Given the description of an element on the screen output the (x, y) to click on. 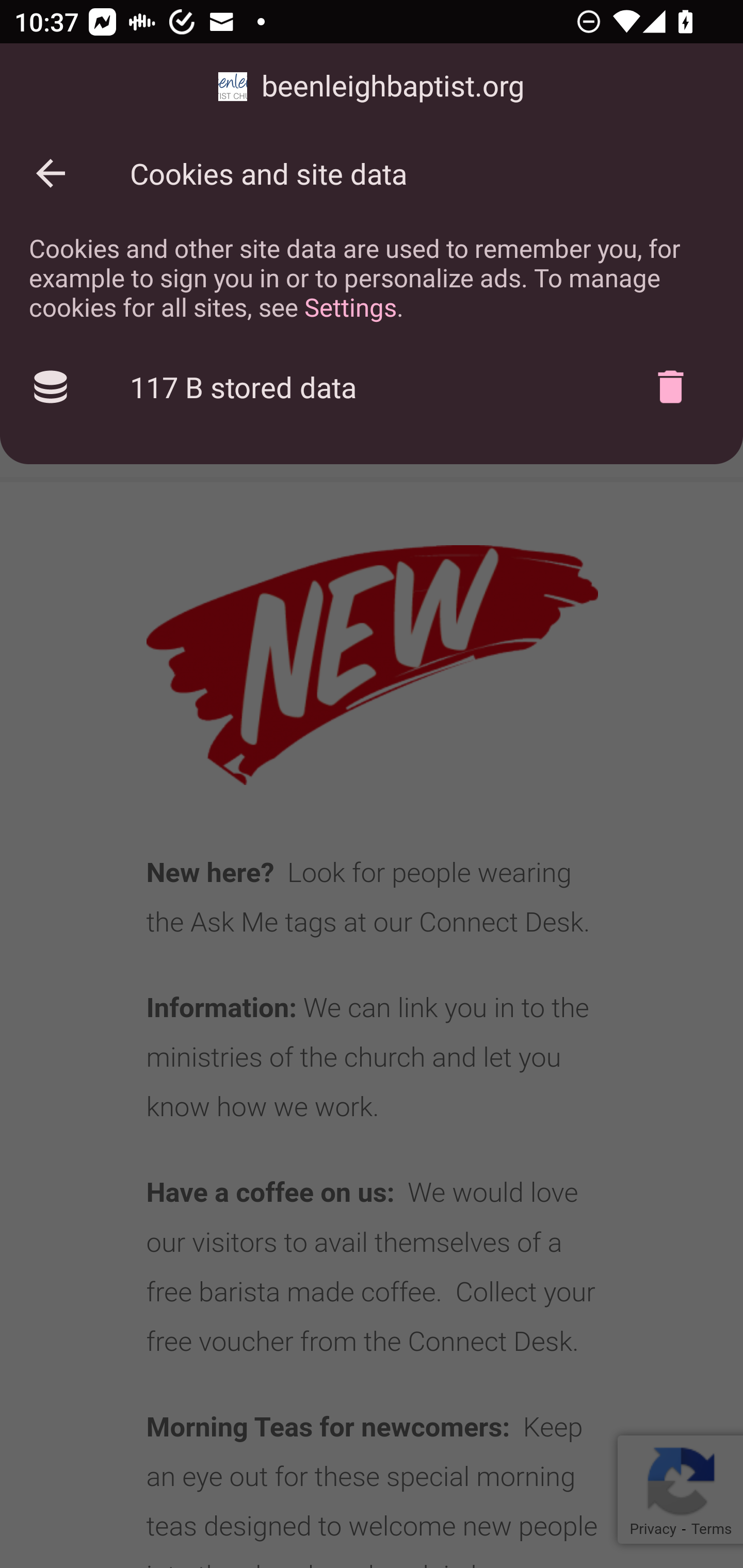
beenleighbaptist.org (371, 86)
Back (50, 173)
117 B stored data Delete cookies? (371, 386)
